Given the description of an element on the screen output the (x, y) to click on. 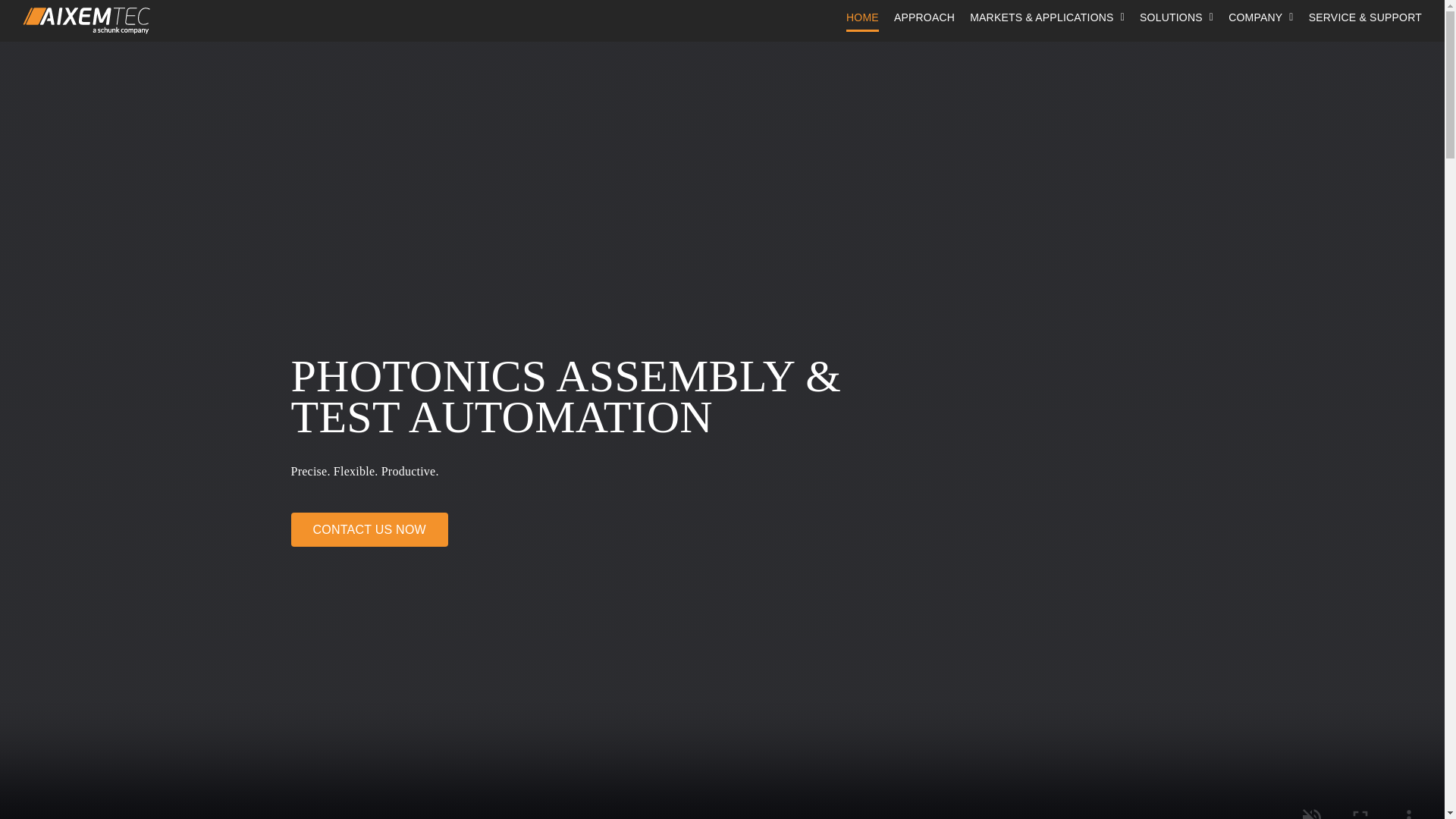
HOME (862, 17)
APPROACH (924, 17)
COMPANY (1261, 17)
SOLUTIONS (1176, 17)
